Given the description of an element on the screen output the (x, y) to click on. 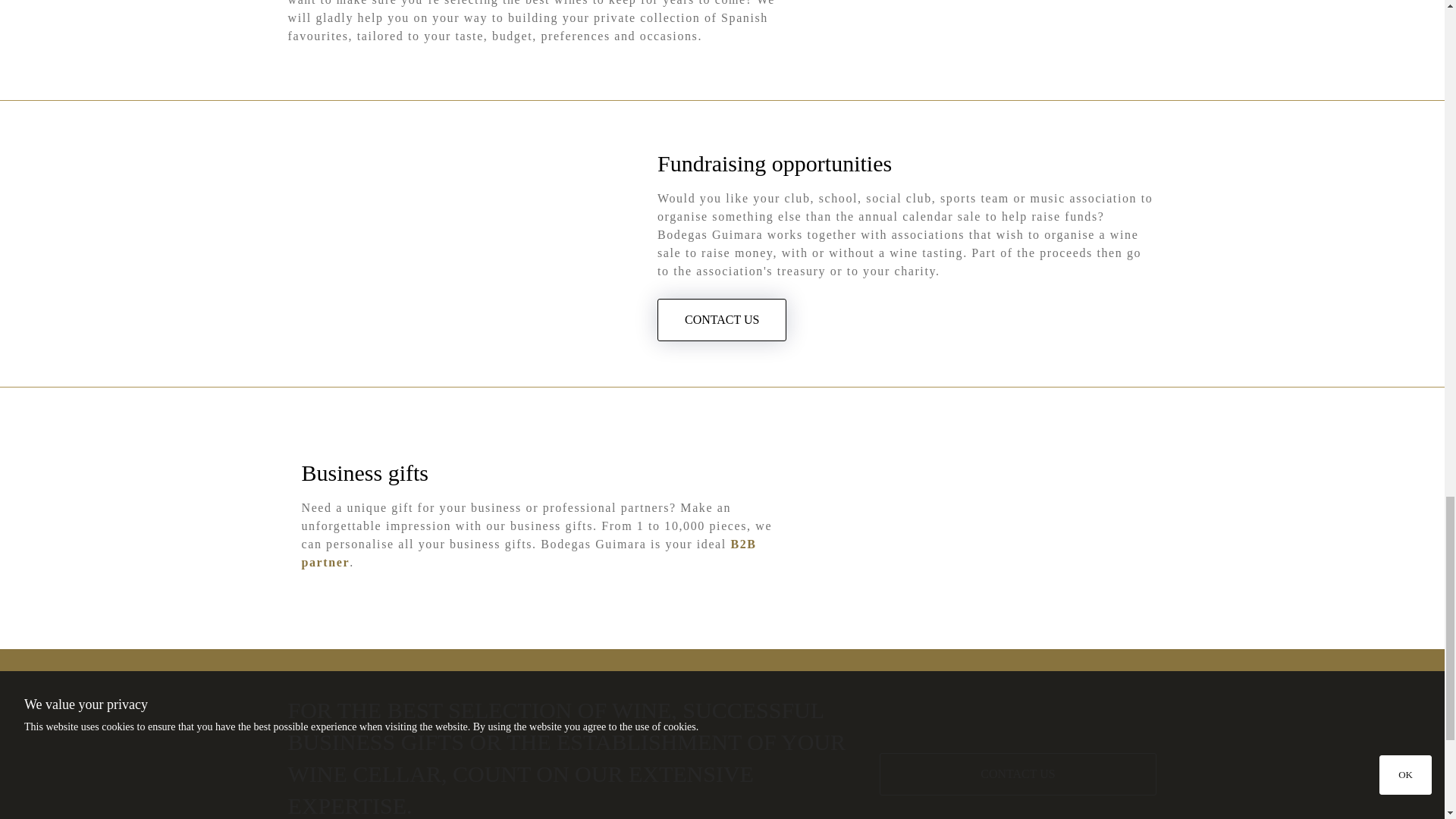
B2B partner (529, 552)
CONTACT US (722, 319)
CONTACT US (1018, 773)
